Given the description of an element on the screen output the (x, y) to click on. 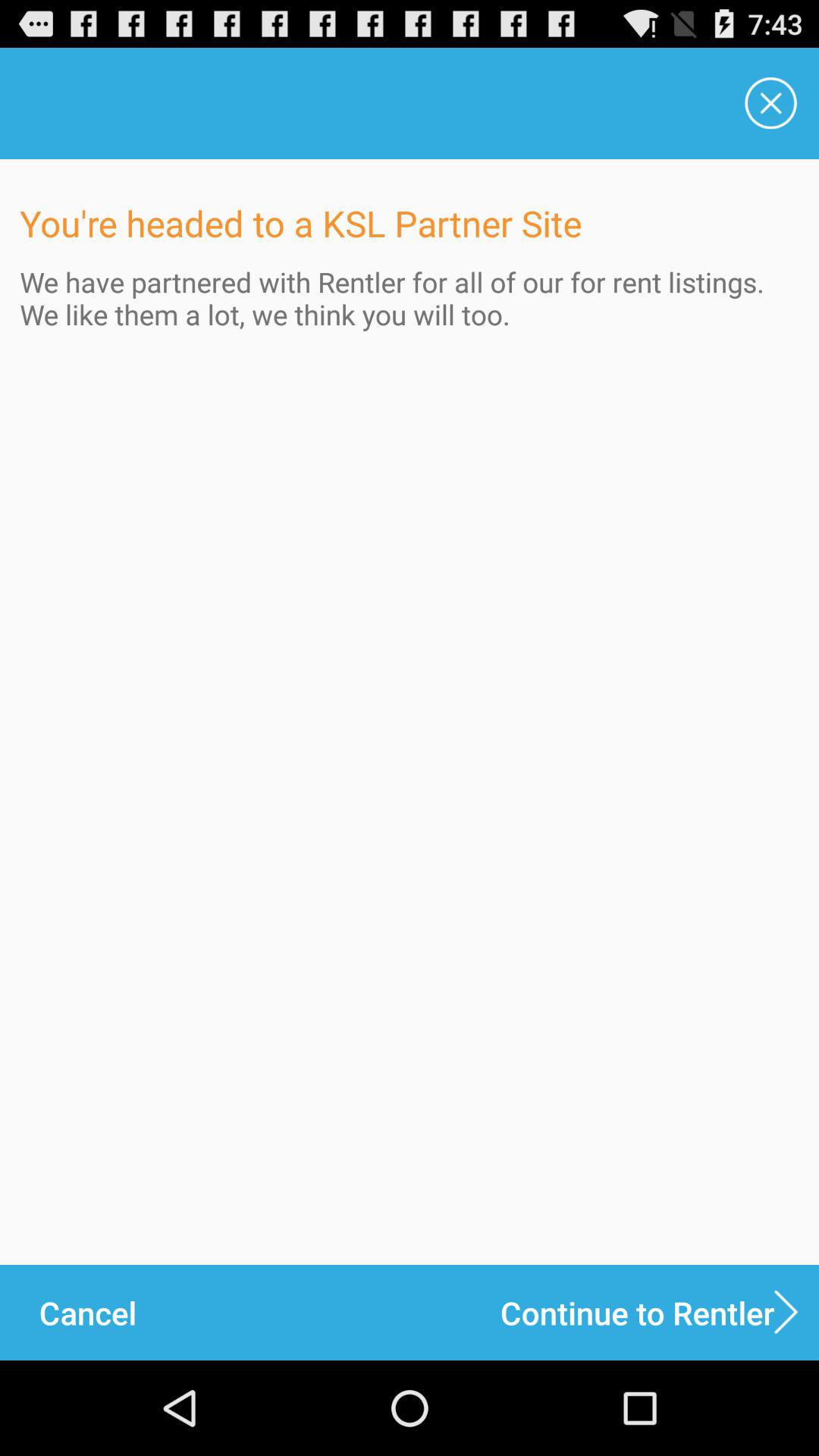
tap the item at the bottom left corner (87, 1312)
